Given the description of an element on the screen output the (x, y) to click on. 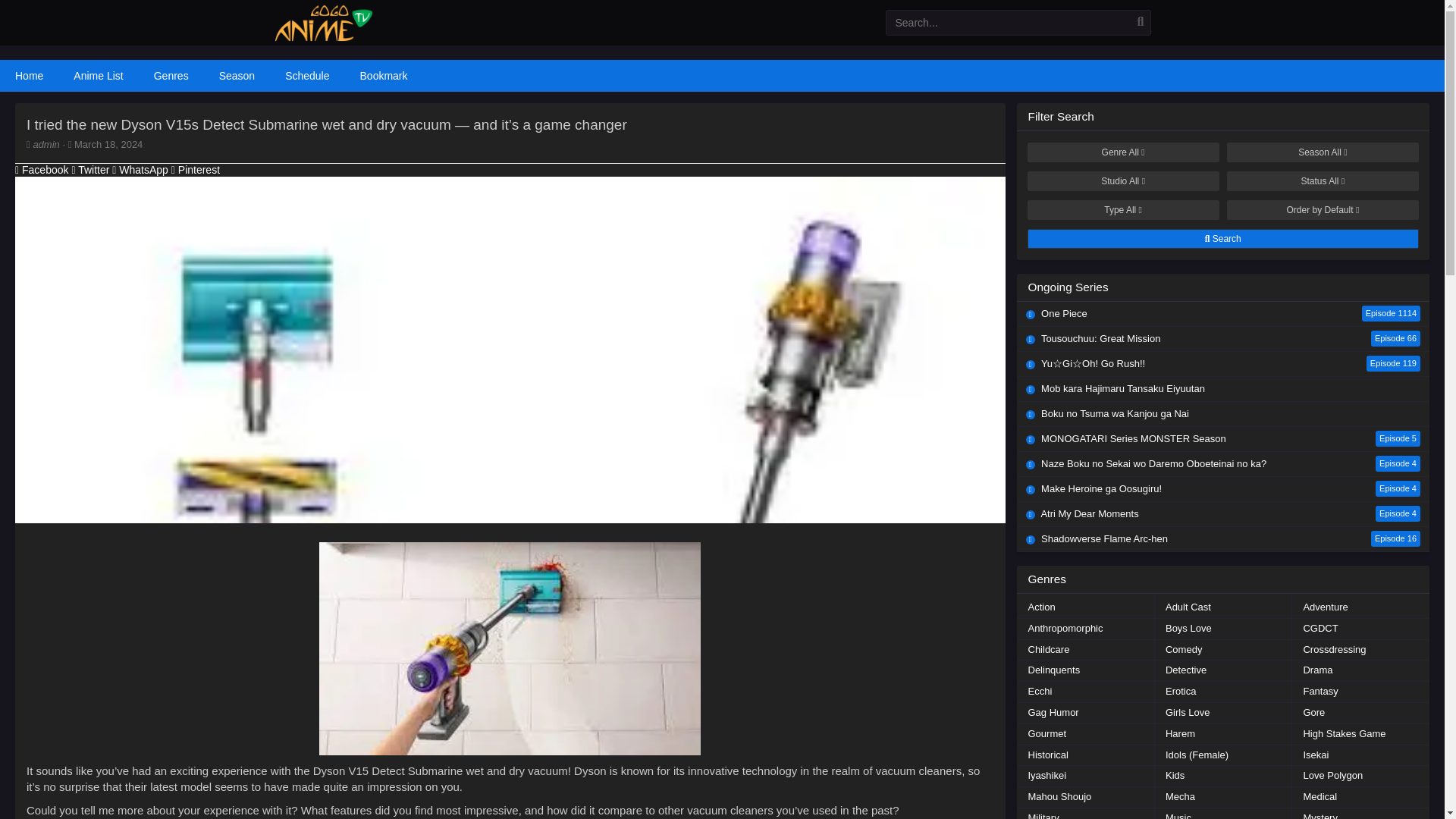
Season All (1322, 152)
Pinterest (195, 169)
Make Heroine ga Oosugiru! Episode 4 English Subbed (1222, 488)
Order by Default (1322, 209)
Schedule (307, 75)
Anthropomorphic (1064, 629)
View all series in Anthropomorphic (1222, 463)
Home (1064, 629)
View all series in Adult Cast (28, 75)
Twitter (1188, 607)
View all series in Action (1222, 313)
Mob kara Hajimaru Tansaku Eiyuutan (91, 169)
Adult Cast (1040, 607)
